Given the description of an element on the screen output the (x, y) to click on. 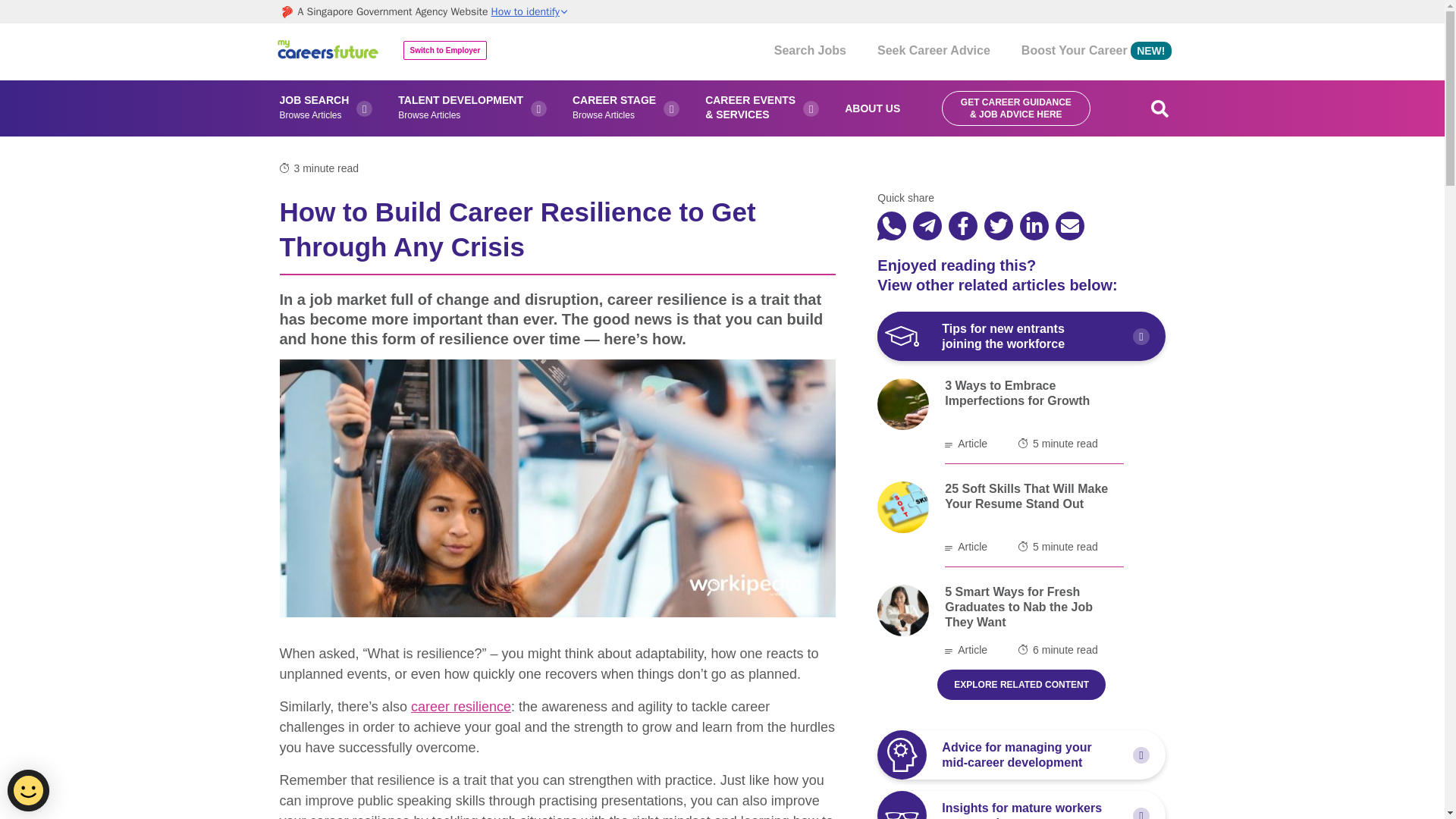
Workipedia by MyCareersFuture (329, 51)
How to Build Career Resilience to Get Through Any Crisis (962, 225)
How to Build Career Resilience to Get Through Any Crisis (927, 225)
How to Build Career Resilience to Get Through Any Crisis (1034, 225)
Search Jobs (809, 51)
How to Build Career Resilience to Get Through Any Crisis (891, 224)
Seek Career Advice (933, 51)
Boost Your Career NEW! (1097, 51)
How to Build Career Resilience to Get Through Any Crisis (998, 225)
Switch to Employer (445, 49)
